Given the description of an element on the screen output the (x, y) to click on. 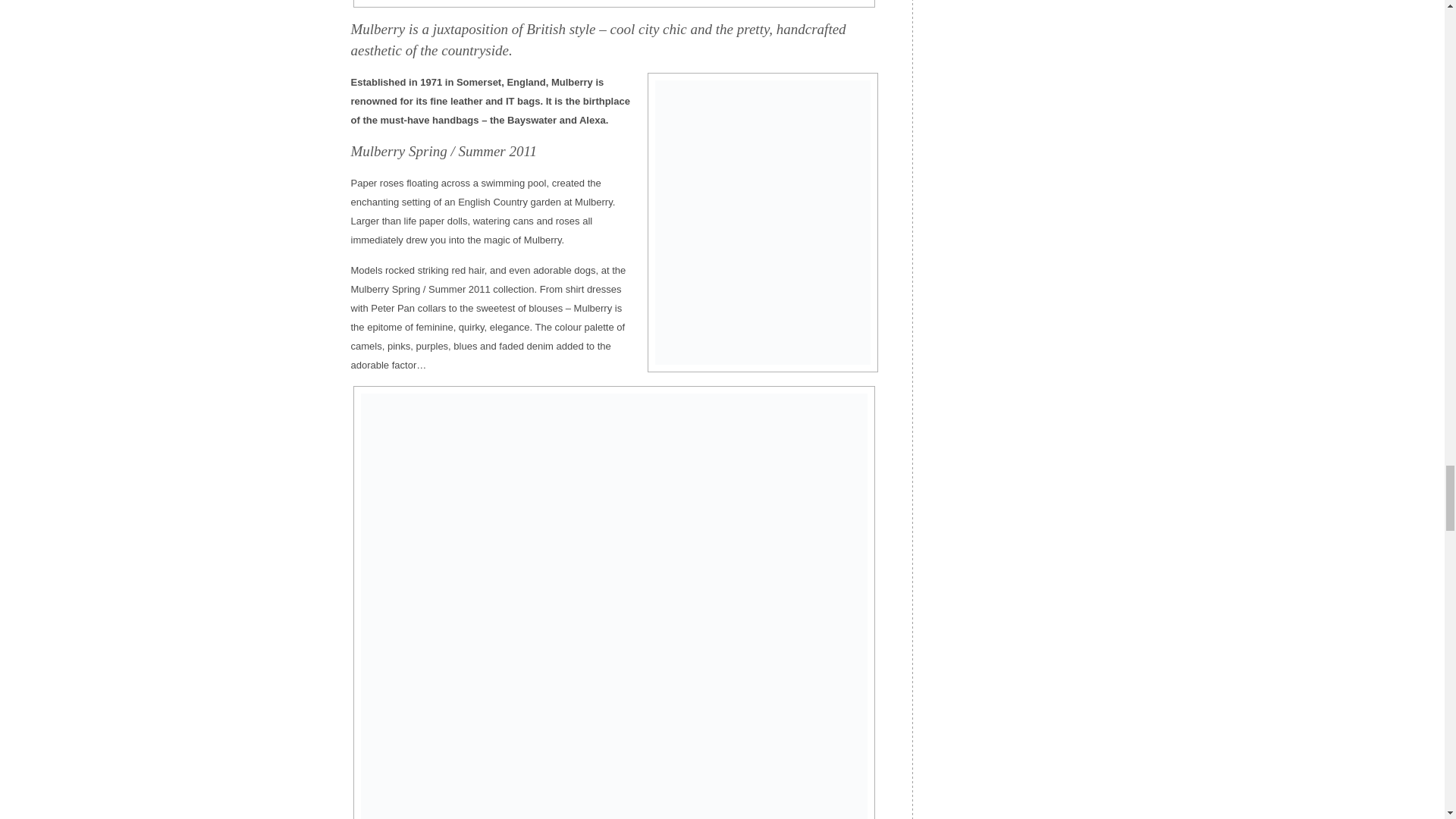
mulberry (614, 3)
